Given the description of an element on the screen output the (x, y) to click on. 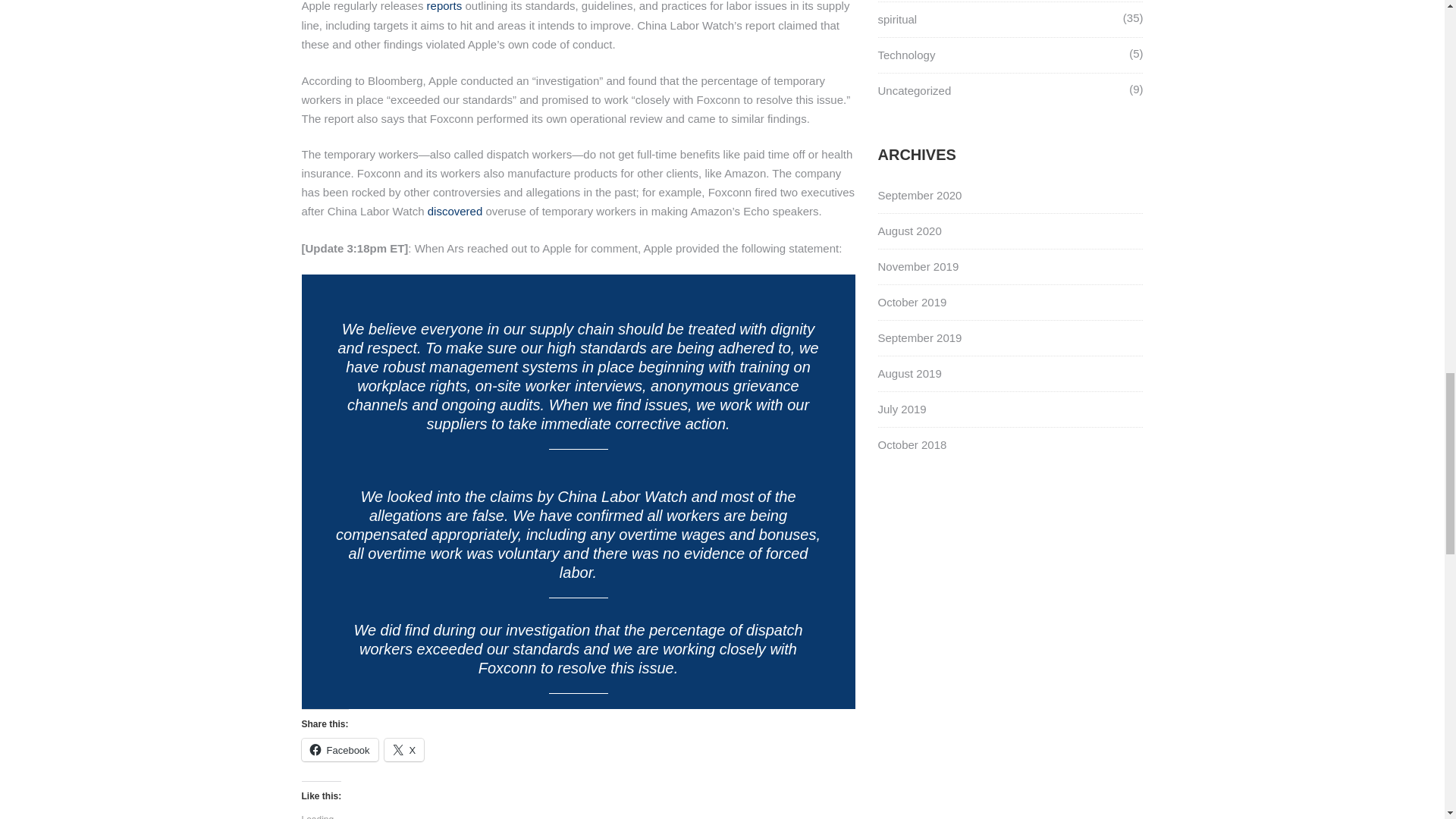
discovered (455, 210)
X (404, 749)
Click to share on Facebook (339, 749)
reports (444, 6)
Click to share on X (404, 749)
Facebook (339, 749)
